Given the description of an element on the screen output the (x, y) to click on. 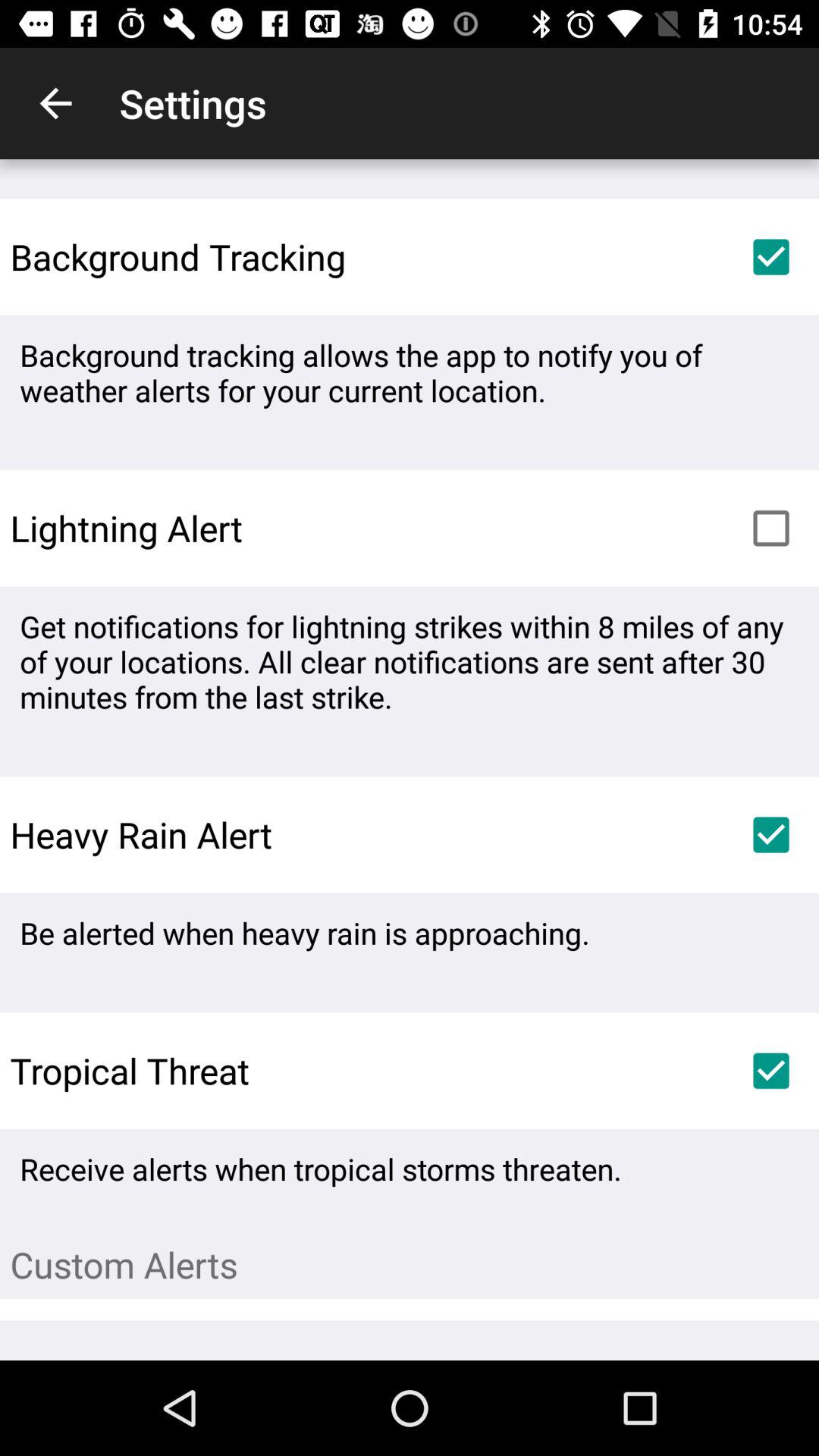
launch the checkbox at the top right corner (771, 256)
